Given the description of an element on the screen output the (x, y) to click on. 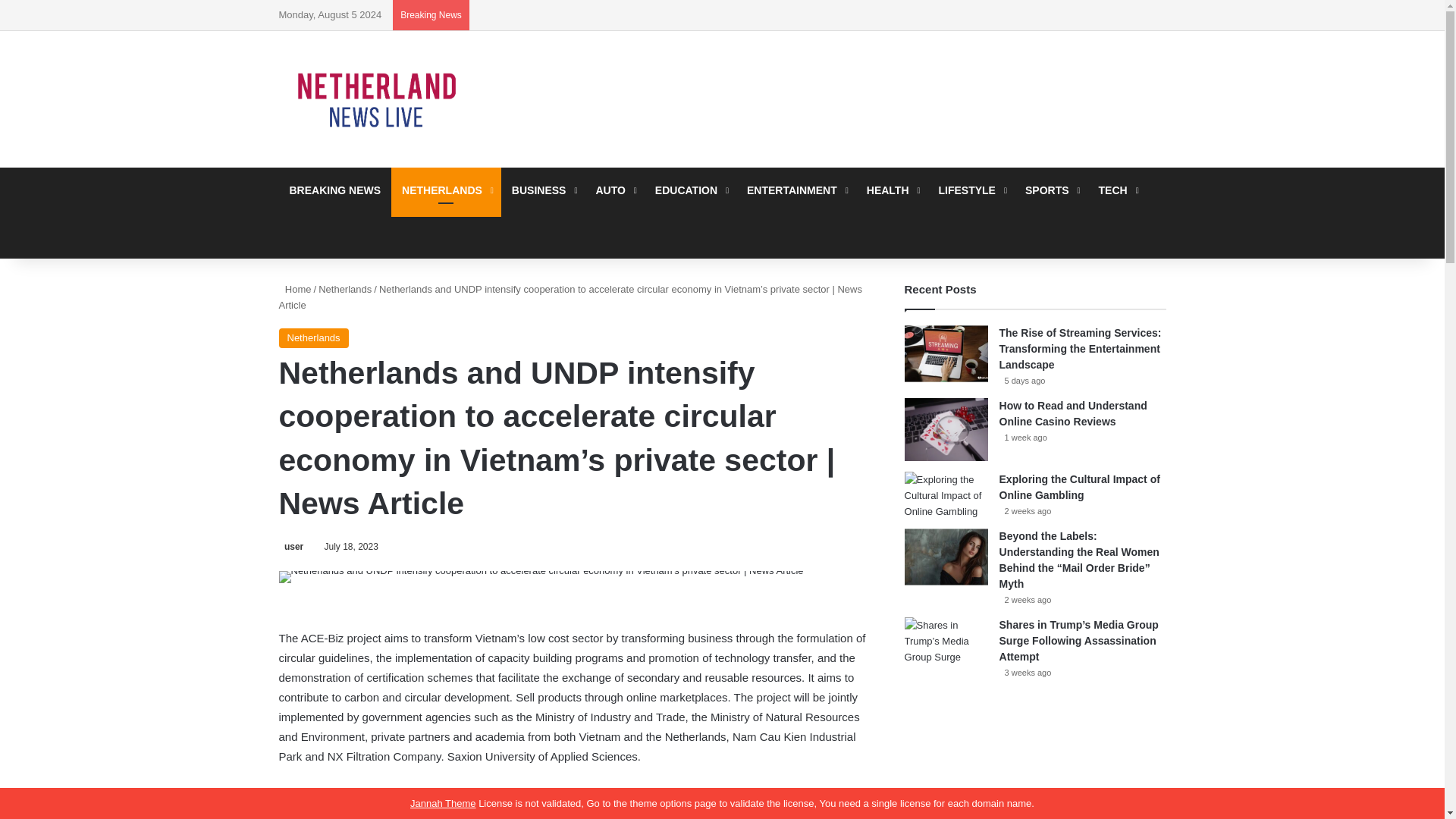
EDUCATION (690, 189)
user (291, 546)
ENTERTAINMENT (796, 189)
Jannah Theme (443, 803)
Random Article (290, 235)
SPORTS (1050, 189)
TECH (1117, 189)
Sidebar (1154, 15)
HEALTH (892, 189)
AUTO (614, 189)
BREAKING NEWS (335, 189)
user (291, 546)
Home (295, 288)
Netherlandsnewslive.com (377, 99)
NETHERLANDS (445, 189)
